Given the description of an element on the screen output the (x, y) to click on. 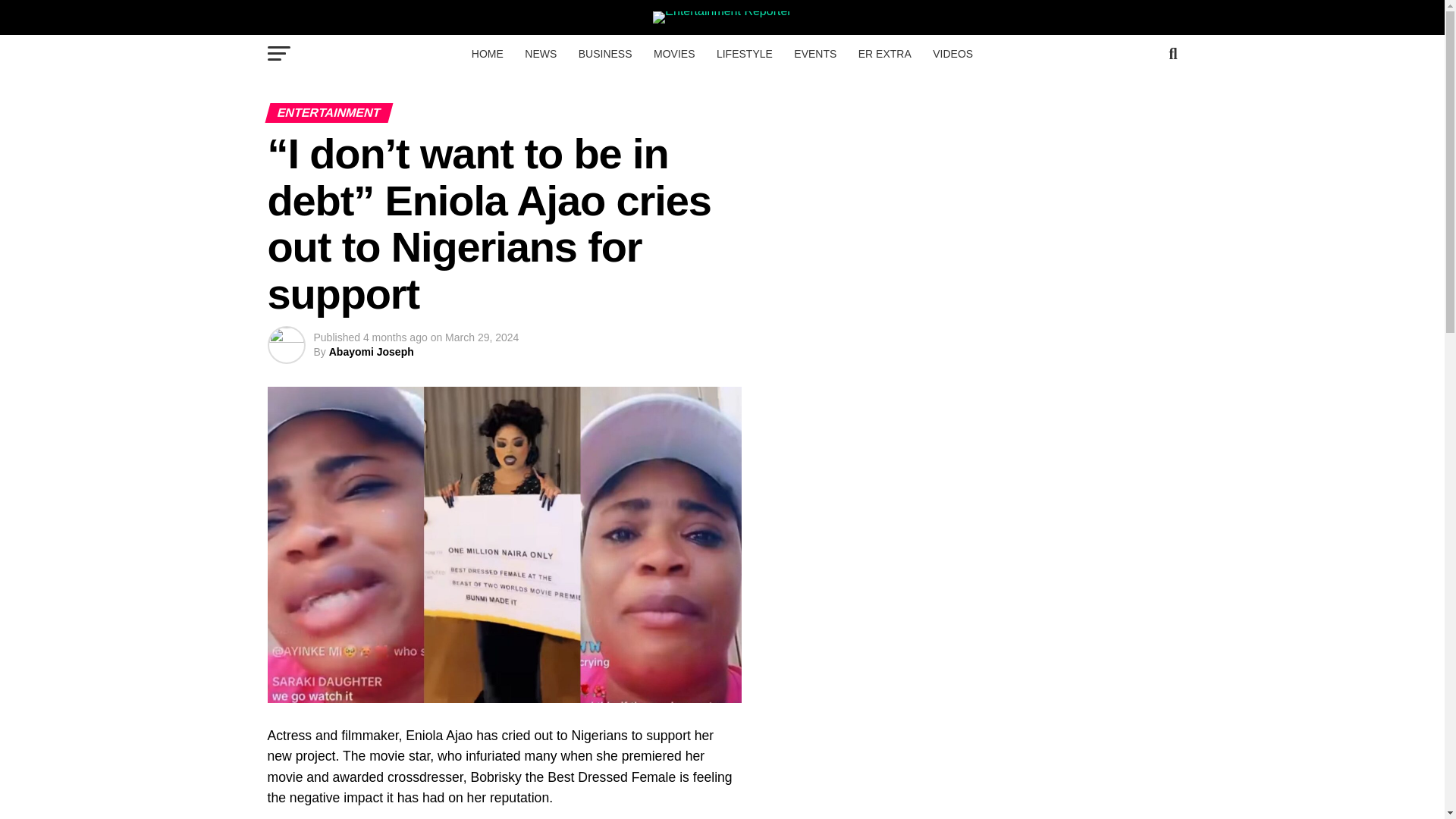
ER EXTRA (884, 53)
BUSINESS (605, 53)
HOME (487, 53)
LIFESTYLE (744, 53)
EVENTS (814, 53)
NEWS (540, 53)
MOVIES (674, 53)
